Given the description of an element on the screen output the (x, y) to click on. 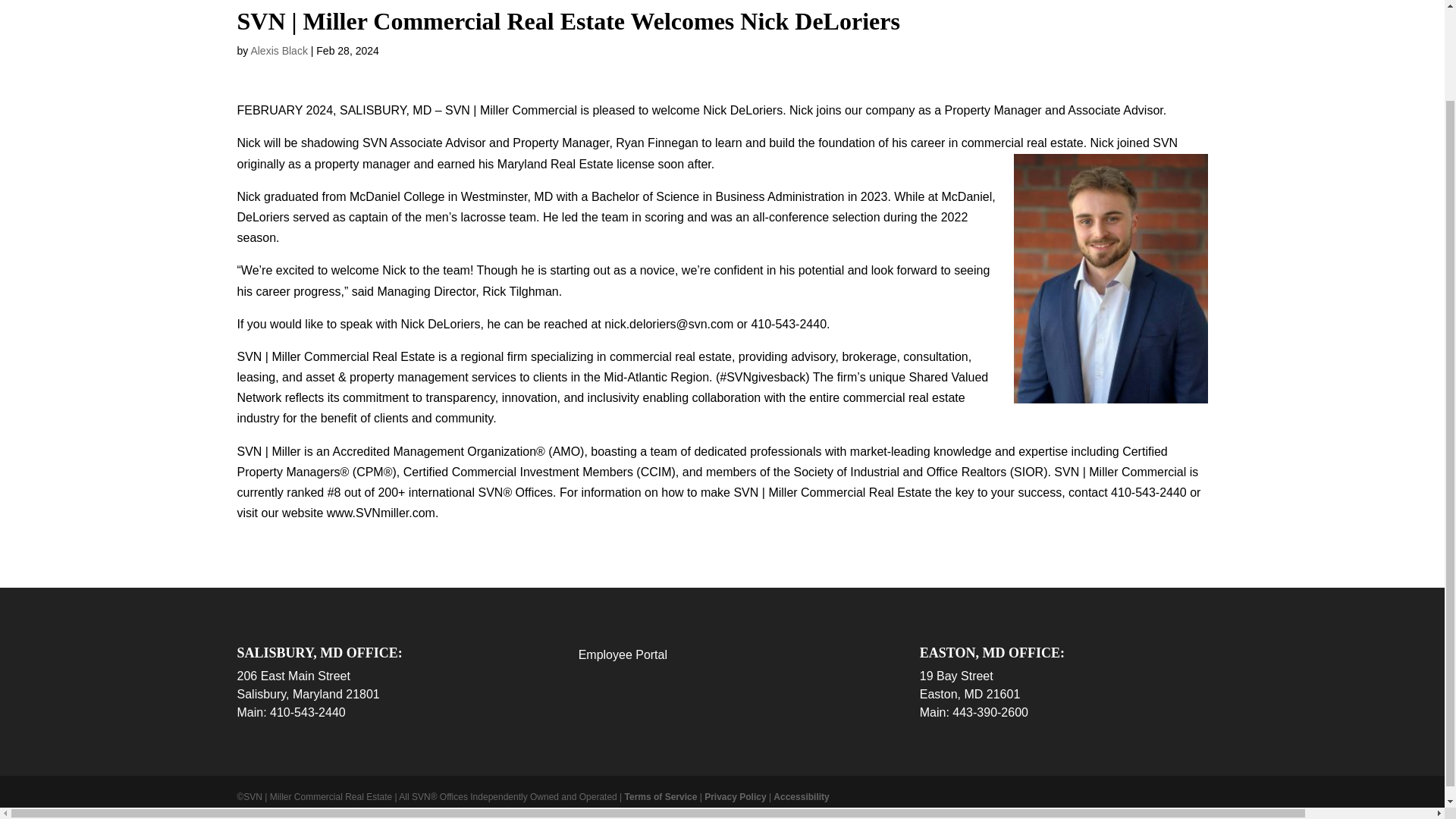
Posts by Alexis Black (278, 50)
Alexis Black (278, 50)
Accessibility (800, 796)
Privacy Policy (734, 796)
Employee Portal (622, 654)
Terms of Service (660, 796)
